Given the description of an element on the screen output the (x, y) to click on. 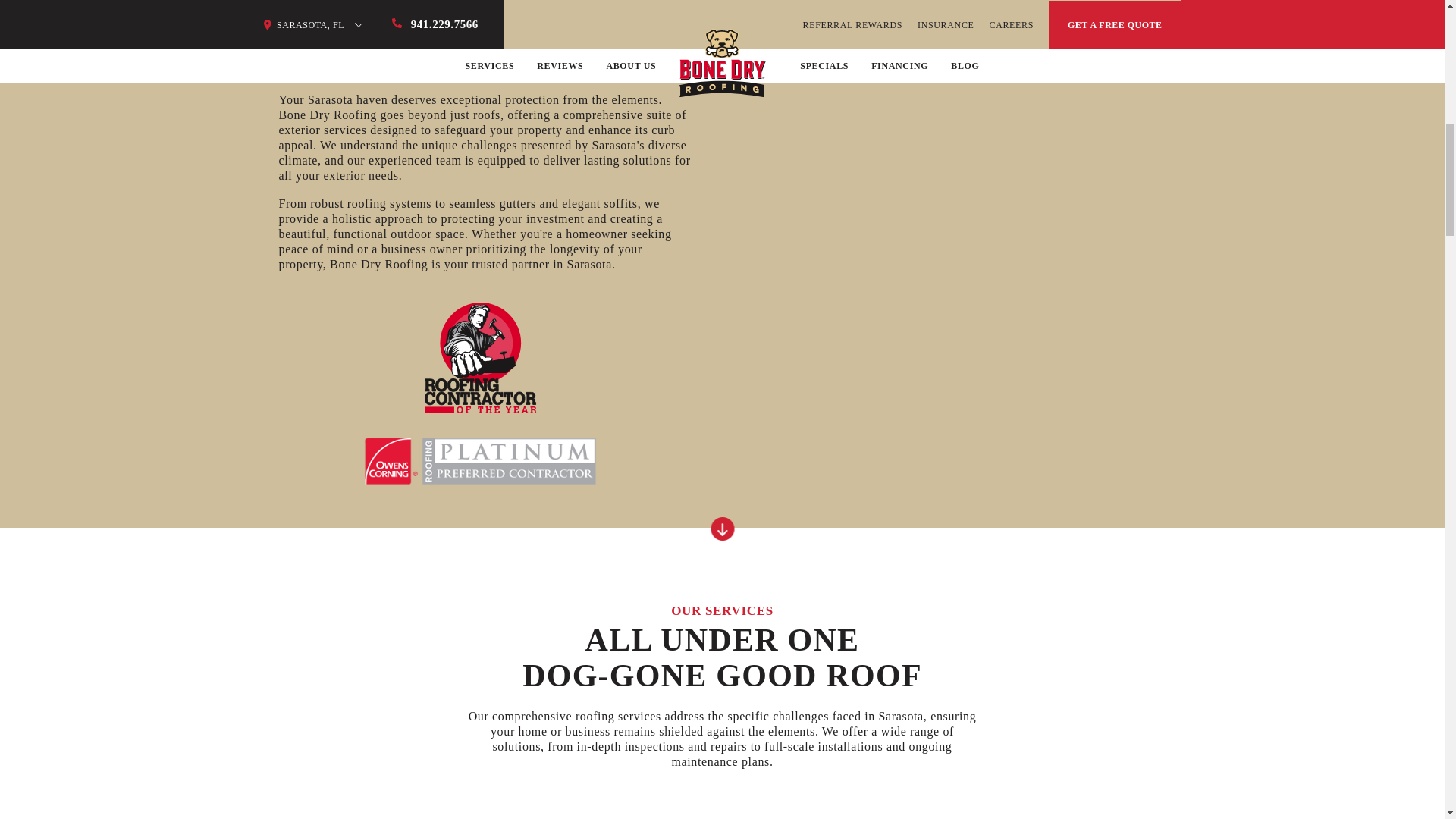
image-text.png (480, 394)
bottom-arrow (721, 528)
